Given the description of an element on the screen output the (x, y) to click on. 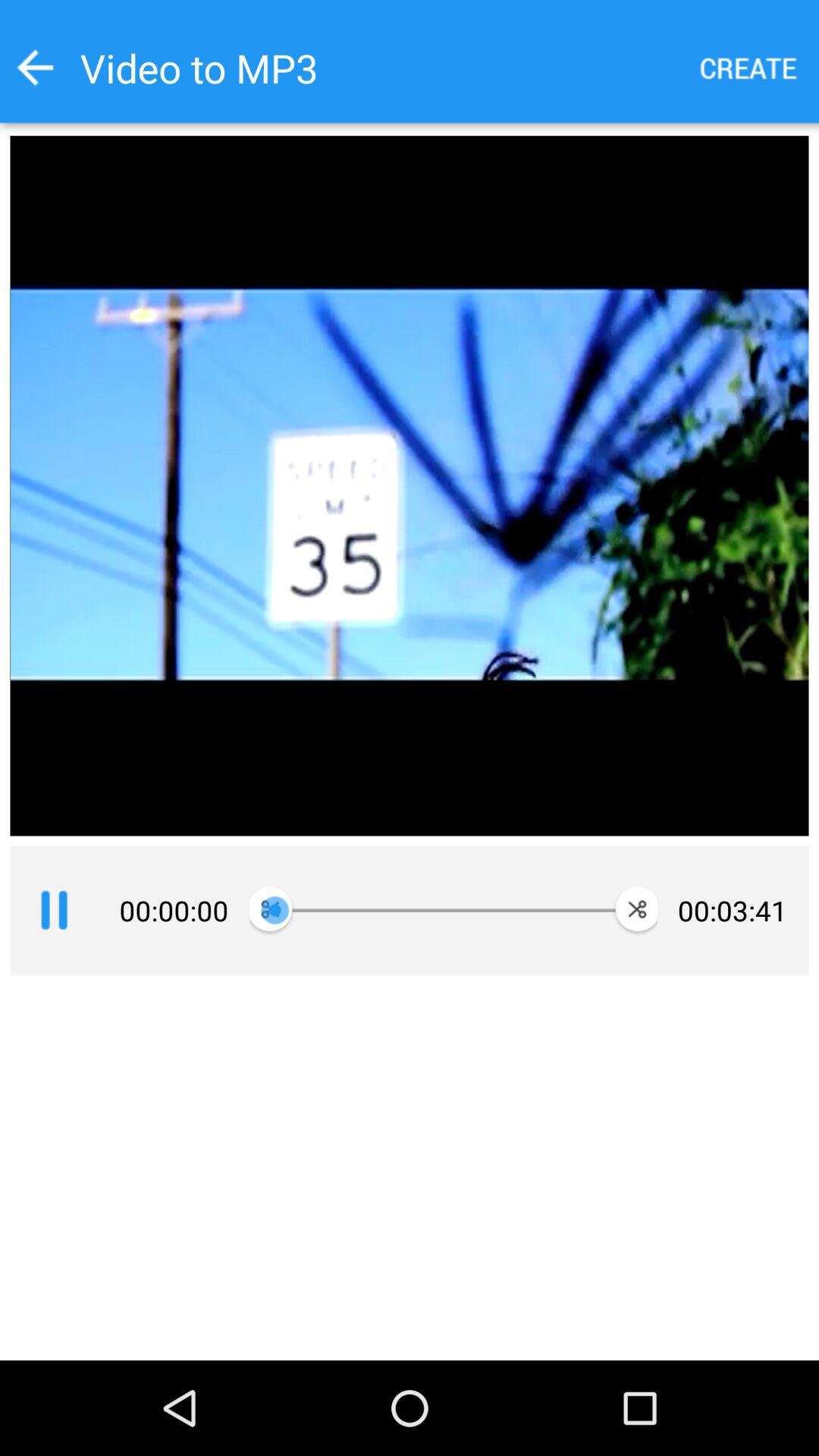
go back (35, 67)
